Given the description of an element on the screen output the (x, y) to click on. 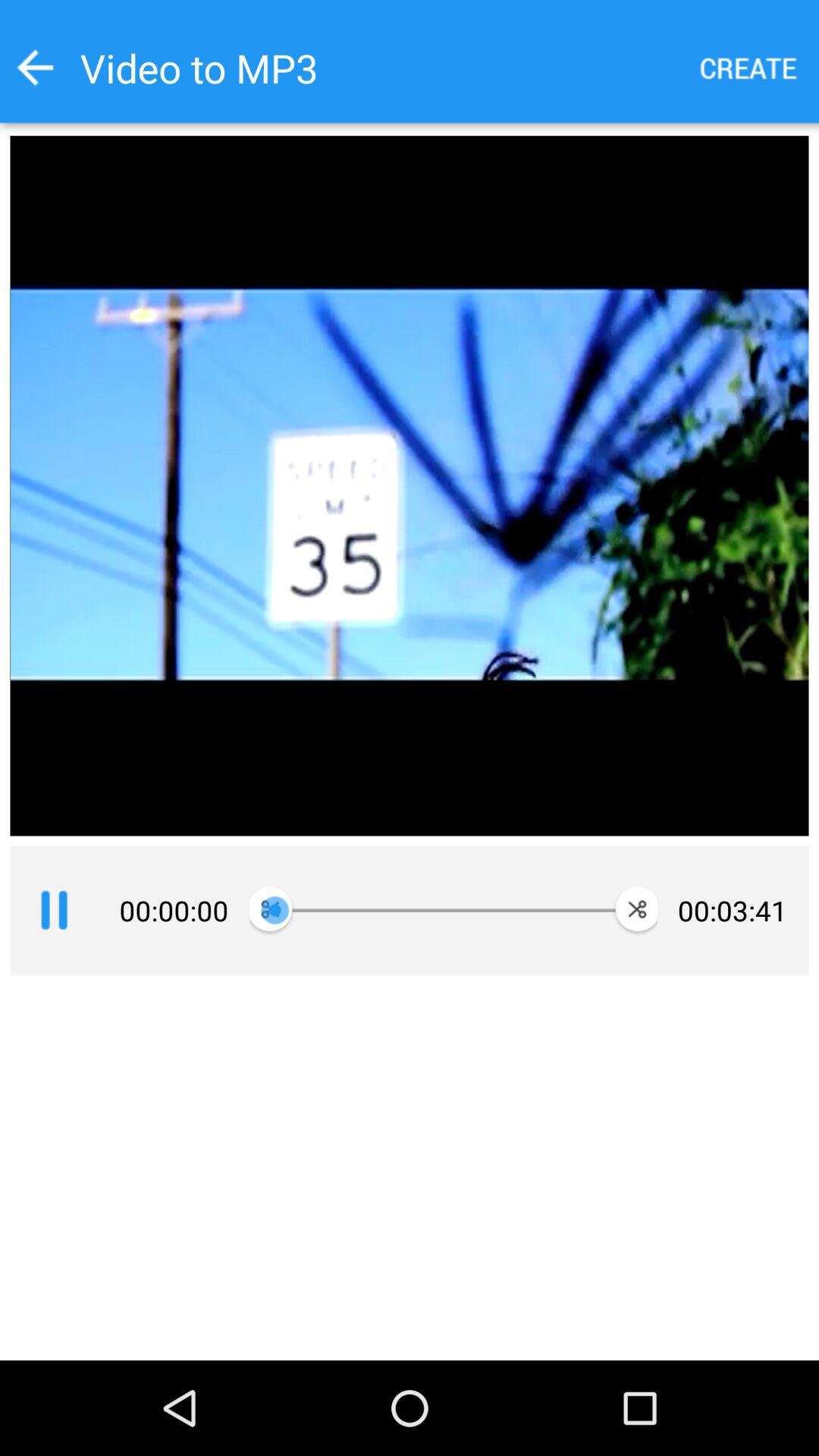
go back (35, 67)
